Given the description of an element on the screen output the (x, y) to click on. 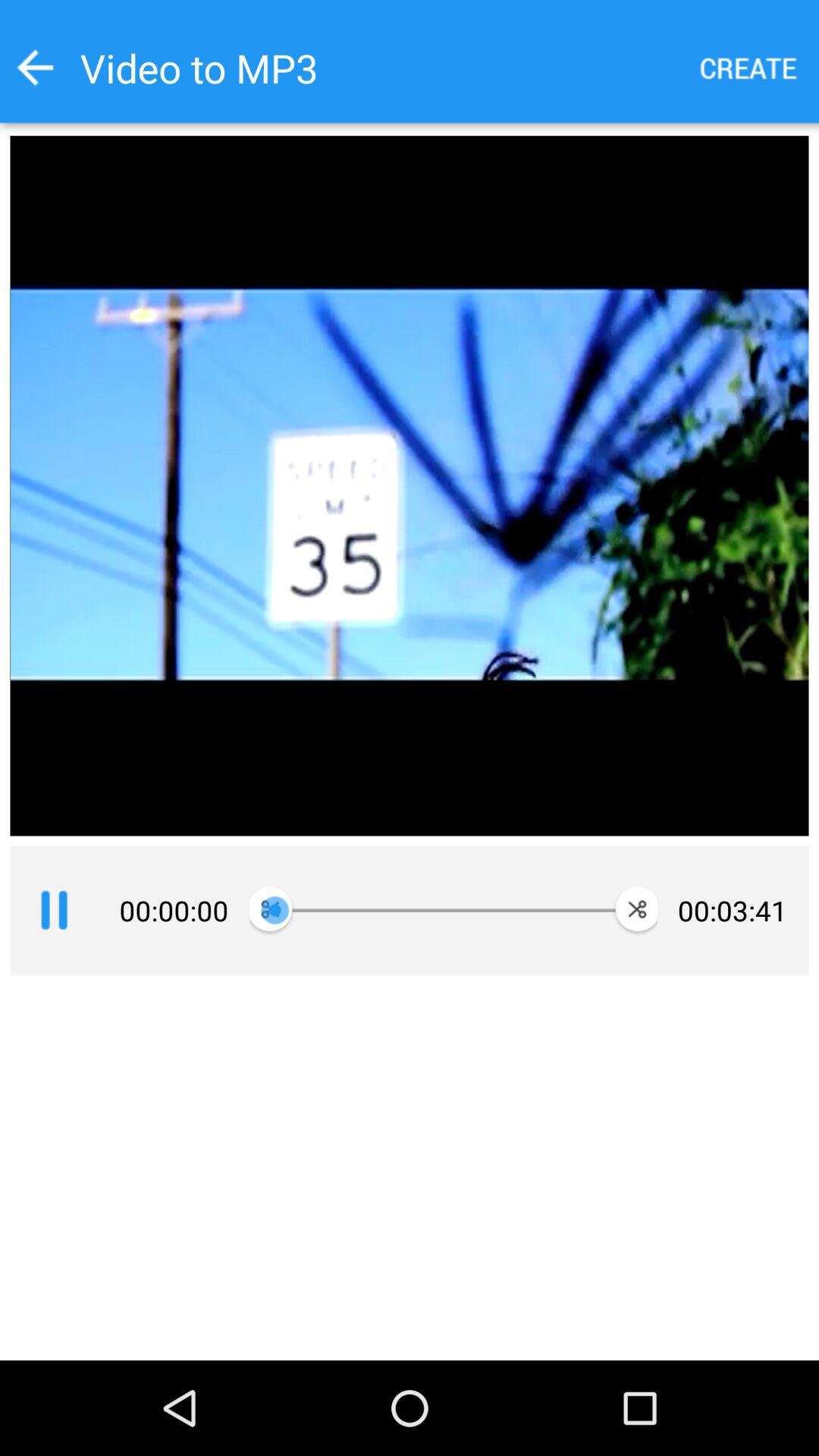
go back (35, 67)
